Given the description of an element on the screen output the (x, y) to click on. 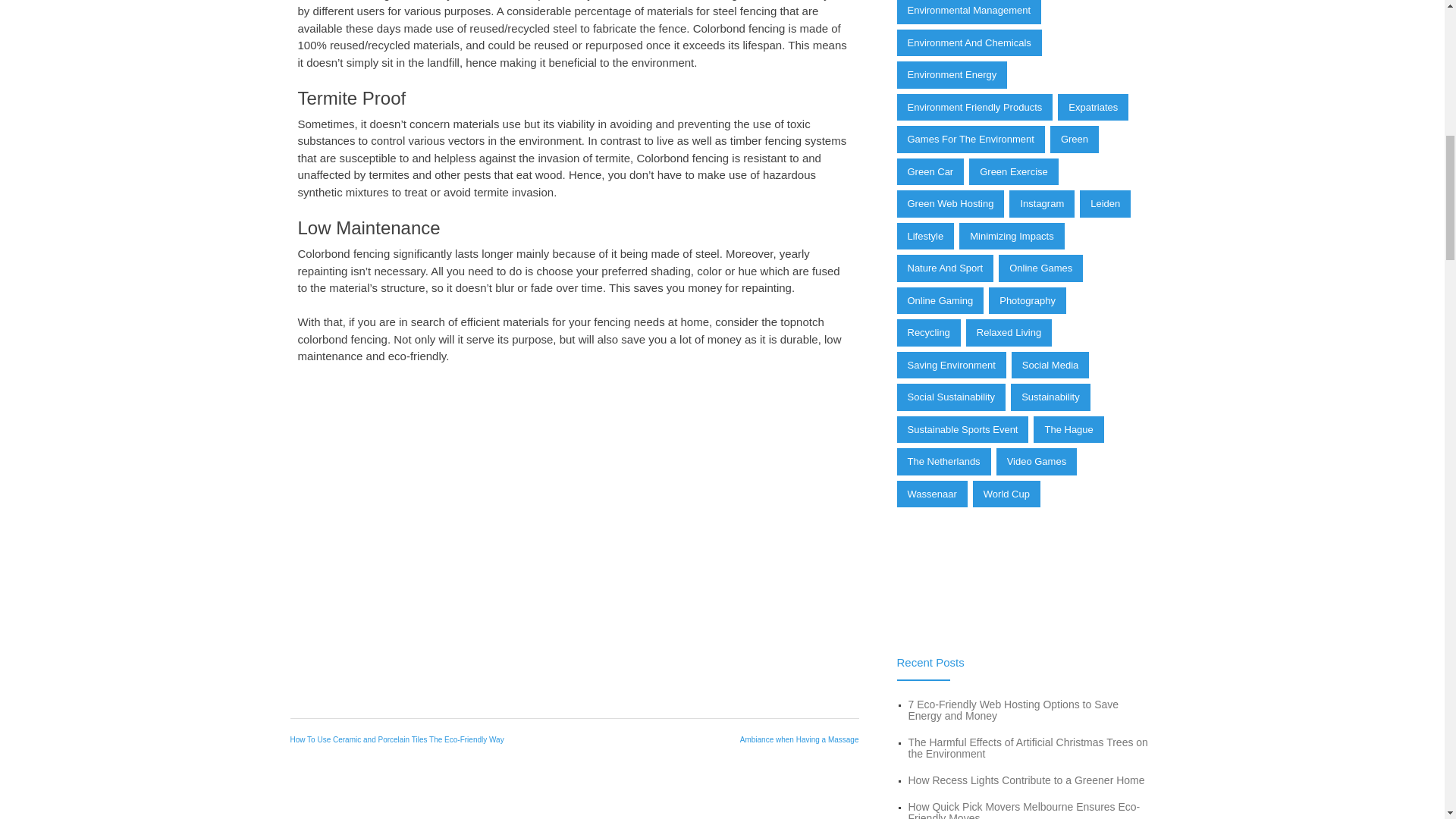
How To Use Ceramic and Porcelain Tiles The Eco-Friendly Way (396, 739)
Environment Friendly Products (974, 107)
Environment And Chemicals (968, 42)
Expatriates (1093, 107)
Environment Energy (951, 74)
Ambiance when Having a Massage (799, 739)
Environmental Management (968, 12)
